Given the description of an element on the screen output the (x, y) to click on. 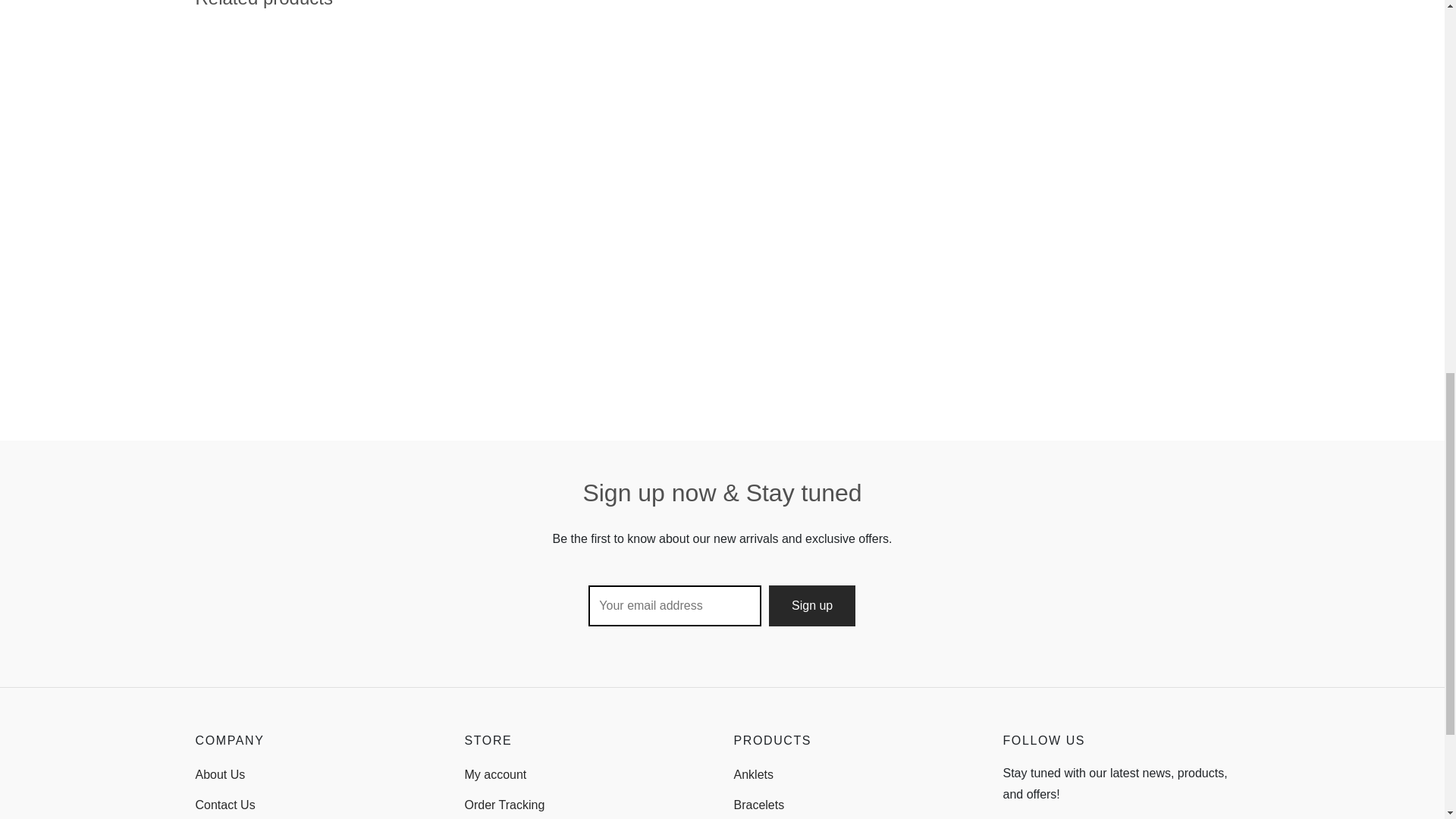
Sign up (812, 605)
